Given the description of an element on the screen output the (x, y) to click on. 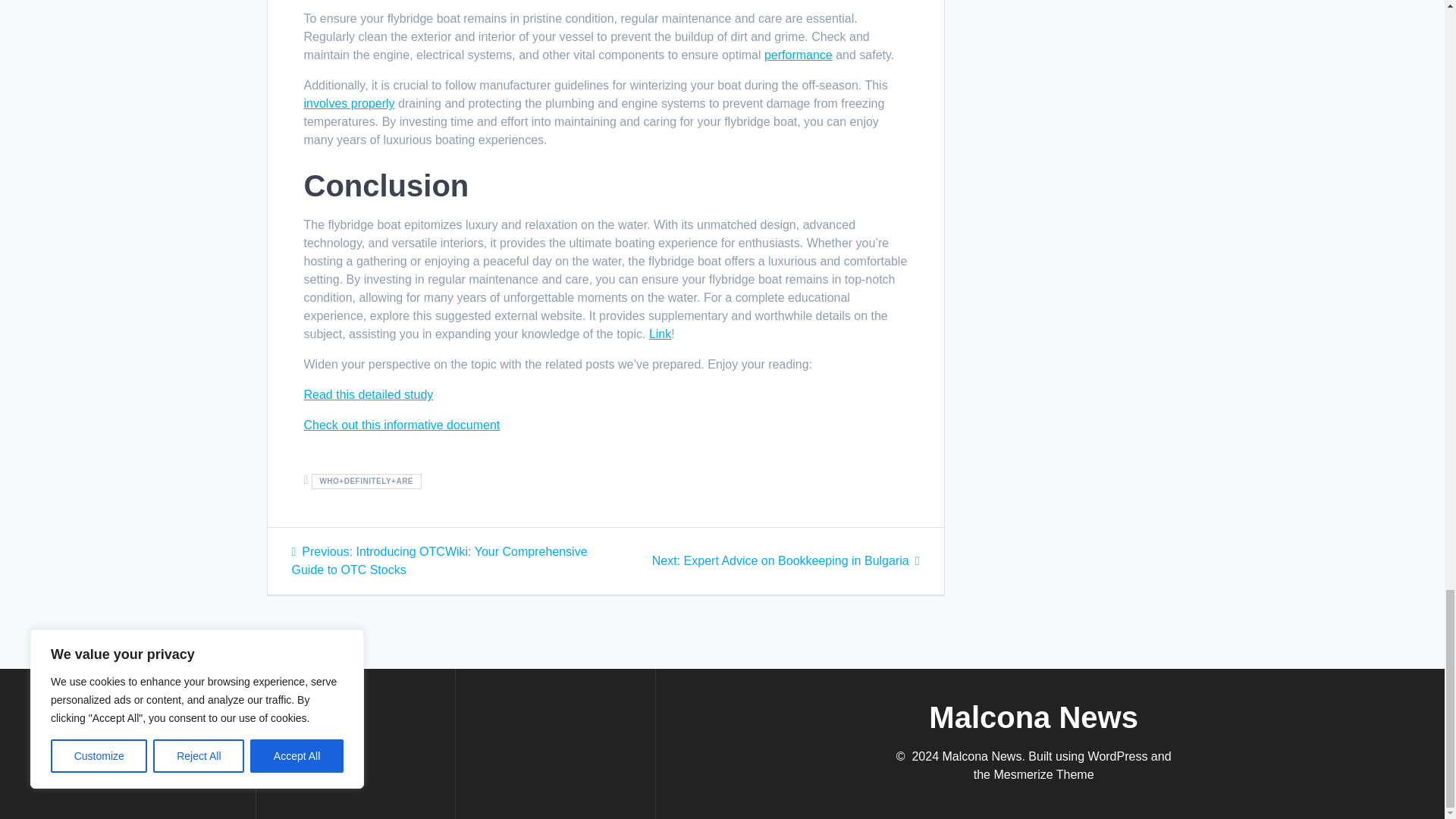
Read this detailed study (367, 394)
involves properly (786, 560)
performance (348, 103)
Check out this informative document (798, 54)
Link (400, 424)
